Given the description of an element on the screen output the (x, y) to click on. 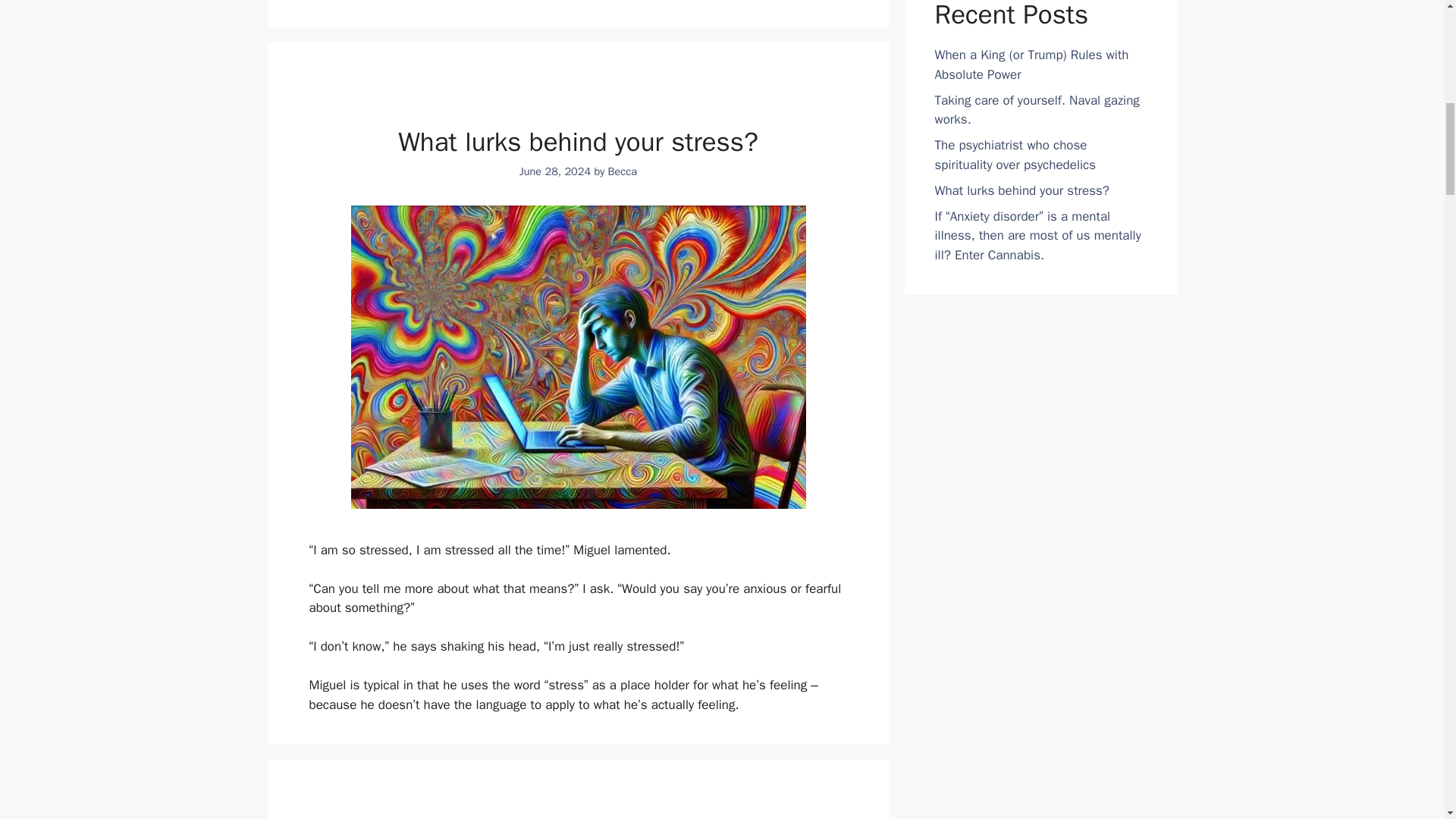
What lurks behind your stress? (577, 141)
View all posts by Becca (622, 170)
Becca (622, 170)
